Given the description of an element on the screen output the (x, y) to click on. 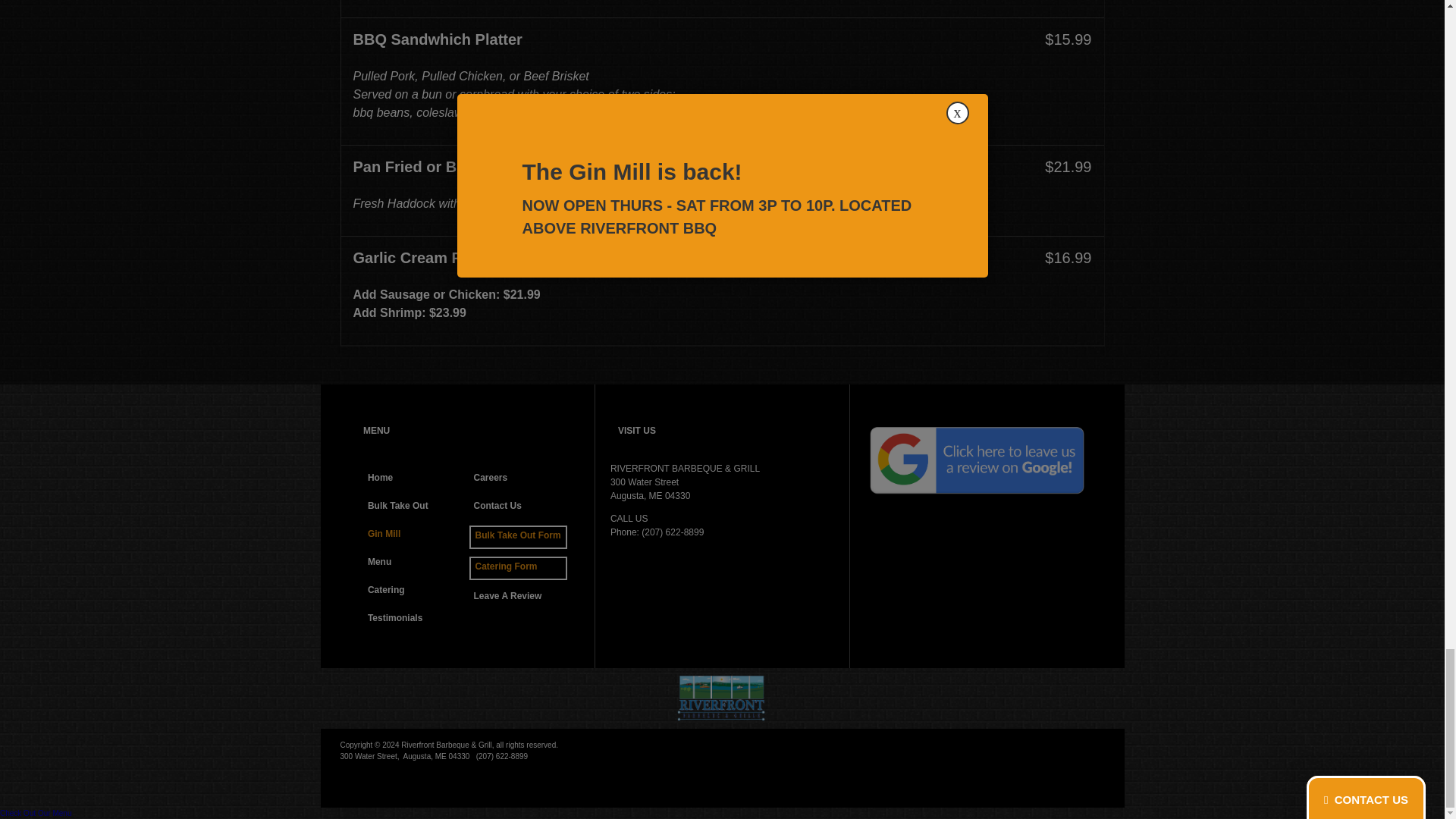
Catering Form (518, 567)
Contact Us (519, 507)
Careers (519, 479)
Testimonials (413, 619)
Bulk Take Out Form (518, 537)
Gin Mill (413, 535)
Bulk Take Out (413, 507)
Home (413, 479)
Catering (413, 591)
Menu (413, 563)
